Given the description of an element on the screen output the (x, y) to click on. 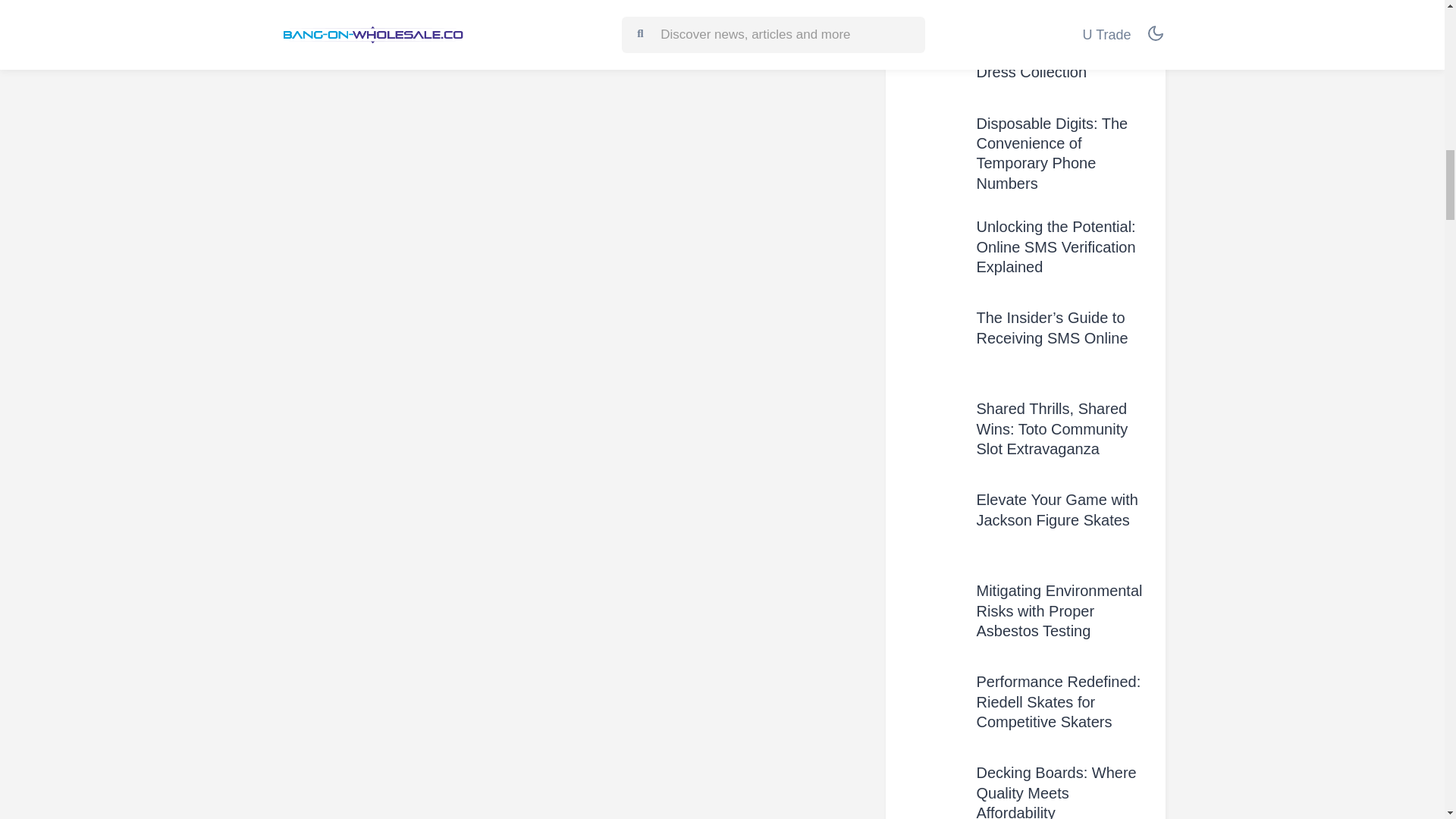
Glittering Grace: Sparkling Figure Skating Dress Collection (1058, 52)
